Given the description of an element on the screen output the (x, y) to click on. 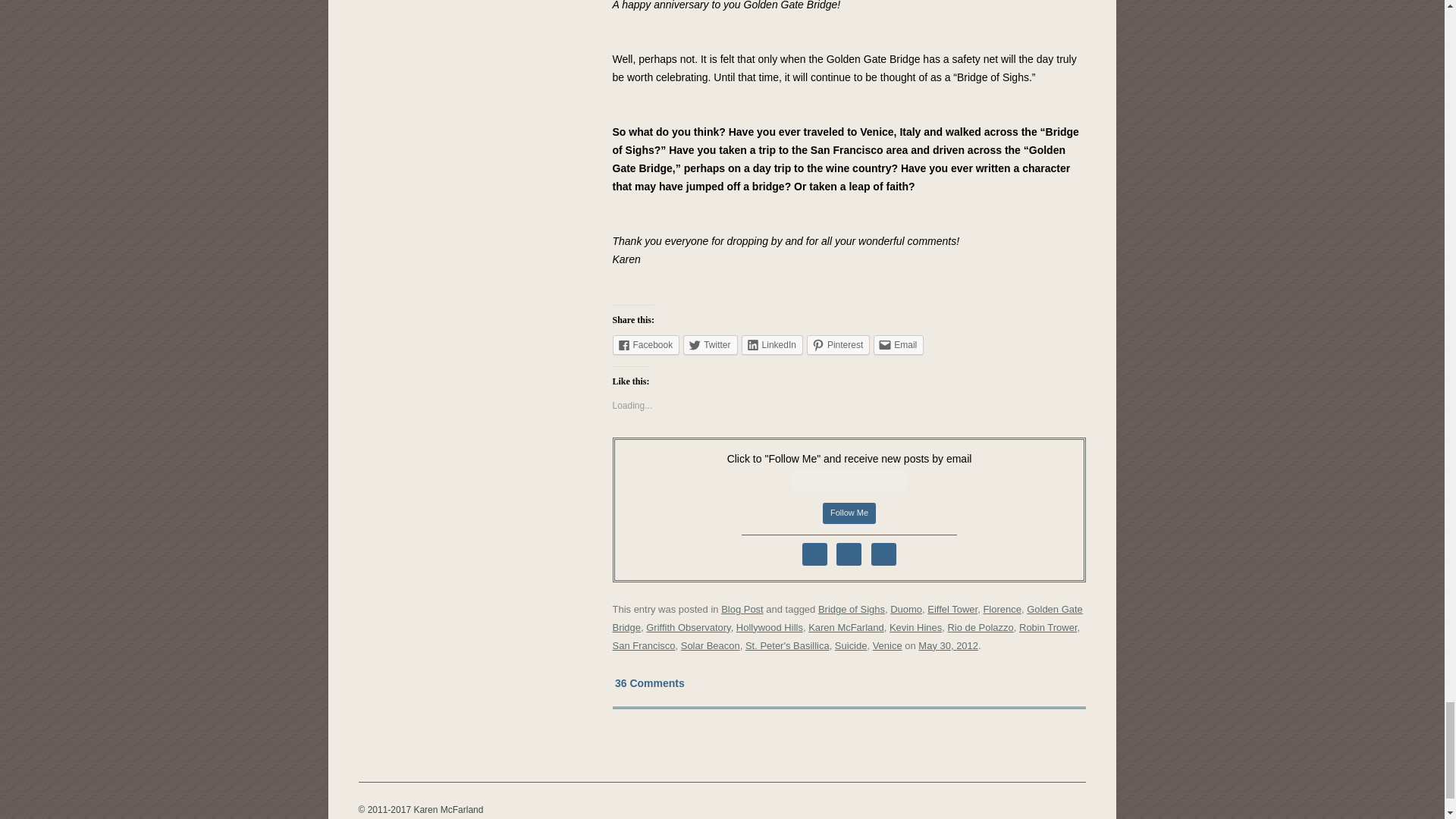
Follow Me (849, 513)
LinkedIn (772, 344)
Email (898, 344)
Facebook (645, 344)
Pinterest (837, 344)
Click to share on LinkedIn (772, 344)
Twitter (709, 344)
Click to share on Twitter (709, 344)
Click to share on Facebook (645, 344)
